Given the description of an element on the screen output the (x, y) to click on. 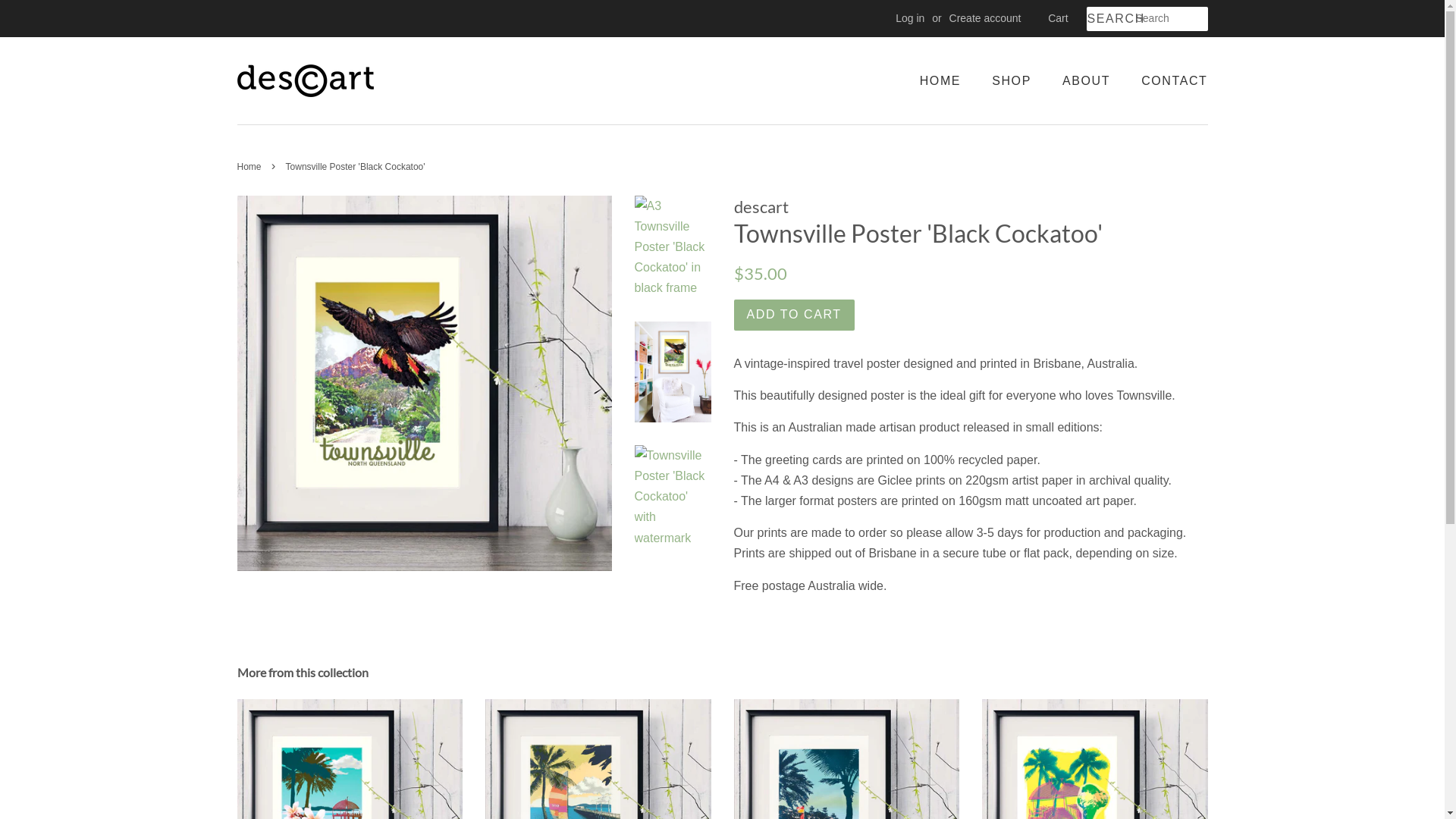
Create account Element type: text (985, 18)
ABOUT Element type: text (1088, 80)
HOME Element type: text (947, 80)
SEARCH Element type: text (1109, 18)
Log in Element type: text (909, 18)
SHOP Element type: text (1013, 80)
ADD TO CART Element type: text (794, 314)
Home Element type: text (250, 166)
Cart Element type: text (1057, 18)
CONTACT Element type: text (1168, 80)
